Given the description of an element on the screen output the (x, y) to click on. 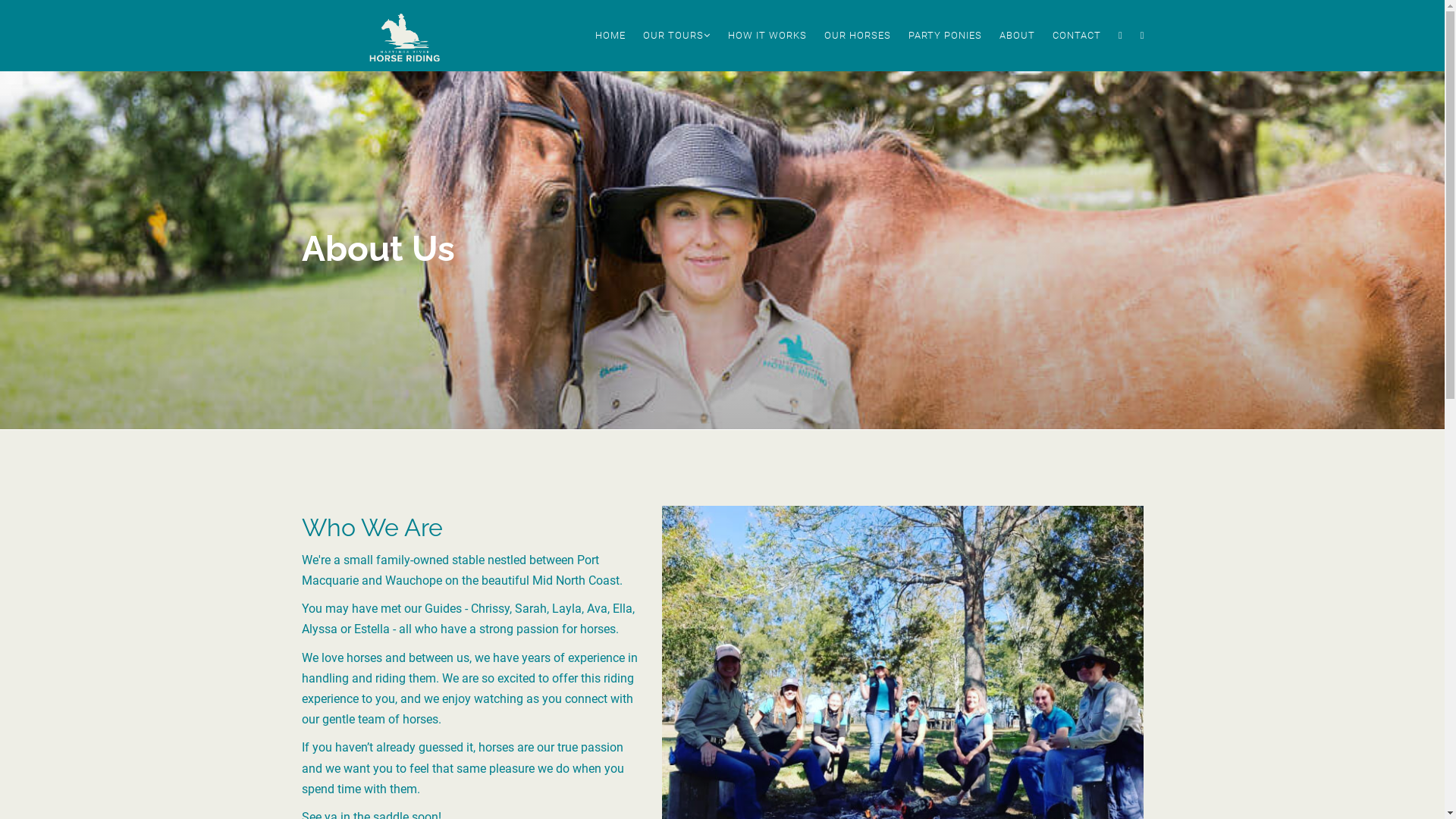
HOME Element type: text (611, 35)
PARTY PONIES Element type: text (945, 35)
HOW IT WORKS Element type: text (768, 35)
OUR HORSES Element type: text (858, 35)
OUR TOURS Element type: text (677, 35)
CONTACT Element type: text (1077, 35)
ABOUT Element type: text (1017, 35)
